Given the description of an element on the screen output the (x, y) to click on. 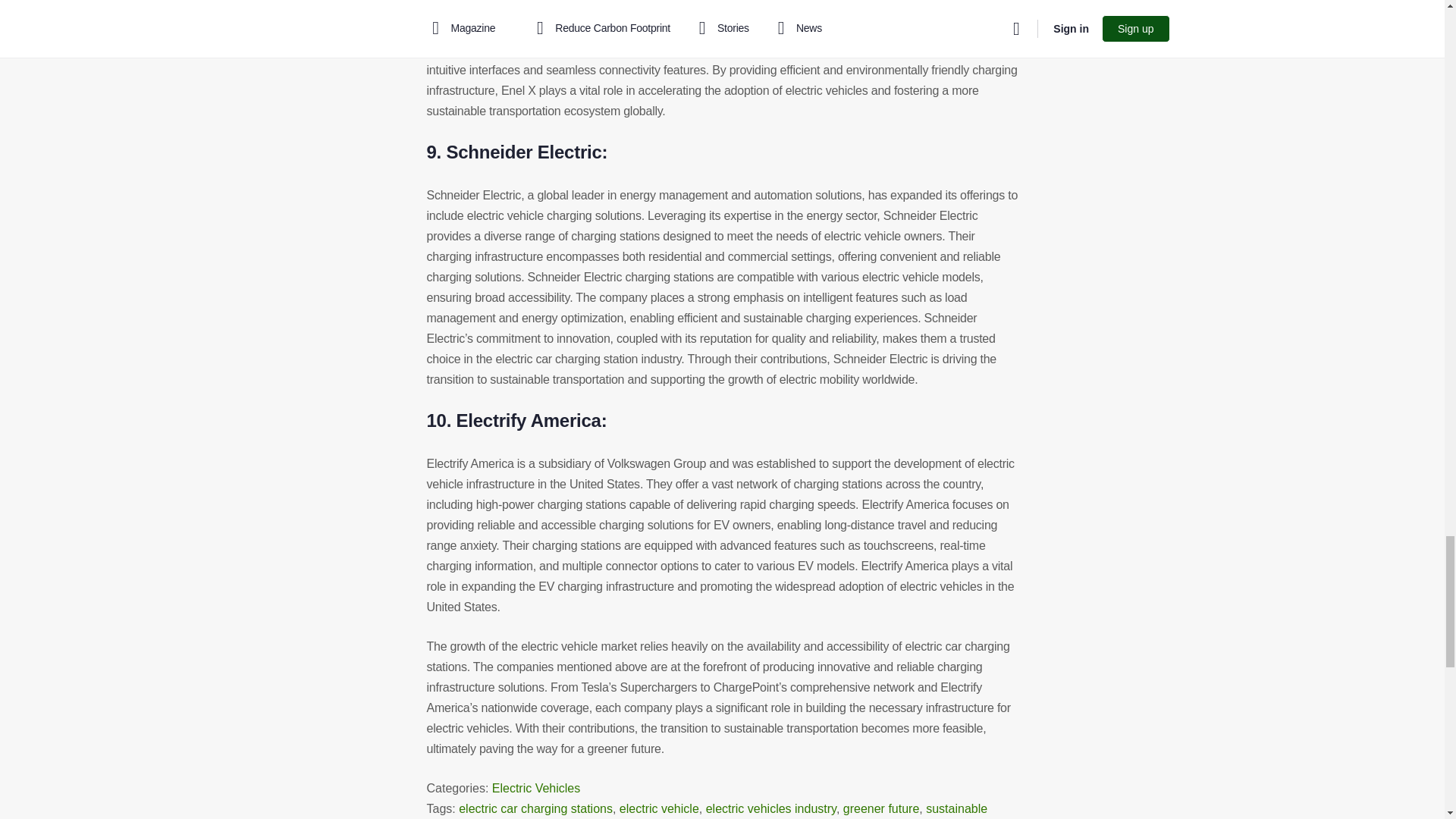
electric vehicles industry (770, 808)
sustainable transportation (706, 810)
Electric Vehicles (536, 788)
electric car charging stations (535, 808)
greener future (881, 808)
electric vehicle (659, 808)
